Given the description of an element on the screen output the (x, y) to click on. 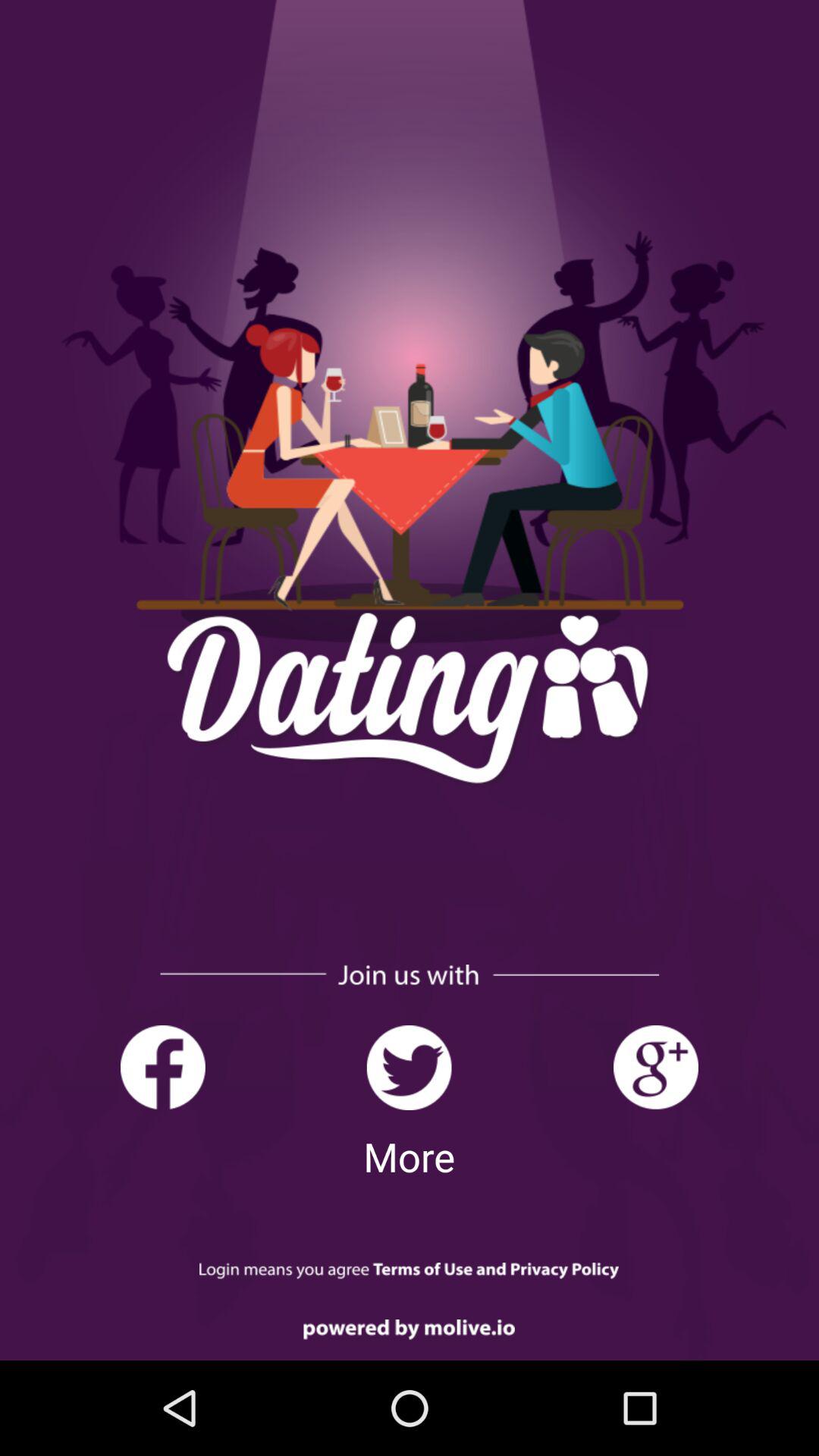
login page (408, 1270)
